Given the description of an element on the screen output the (x, y) to click on. 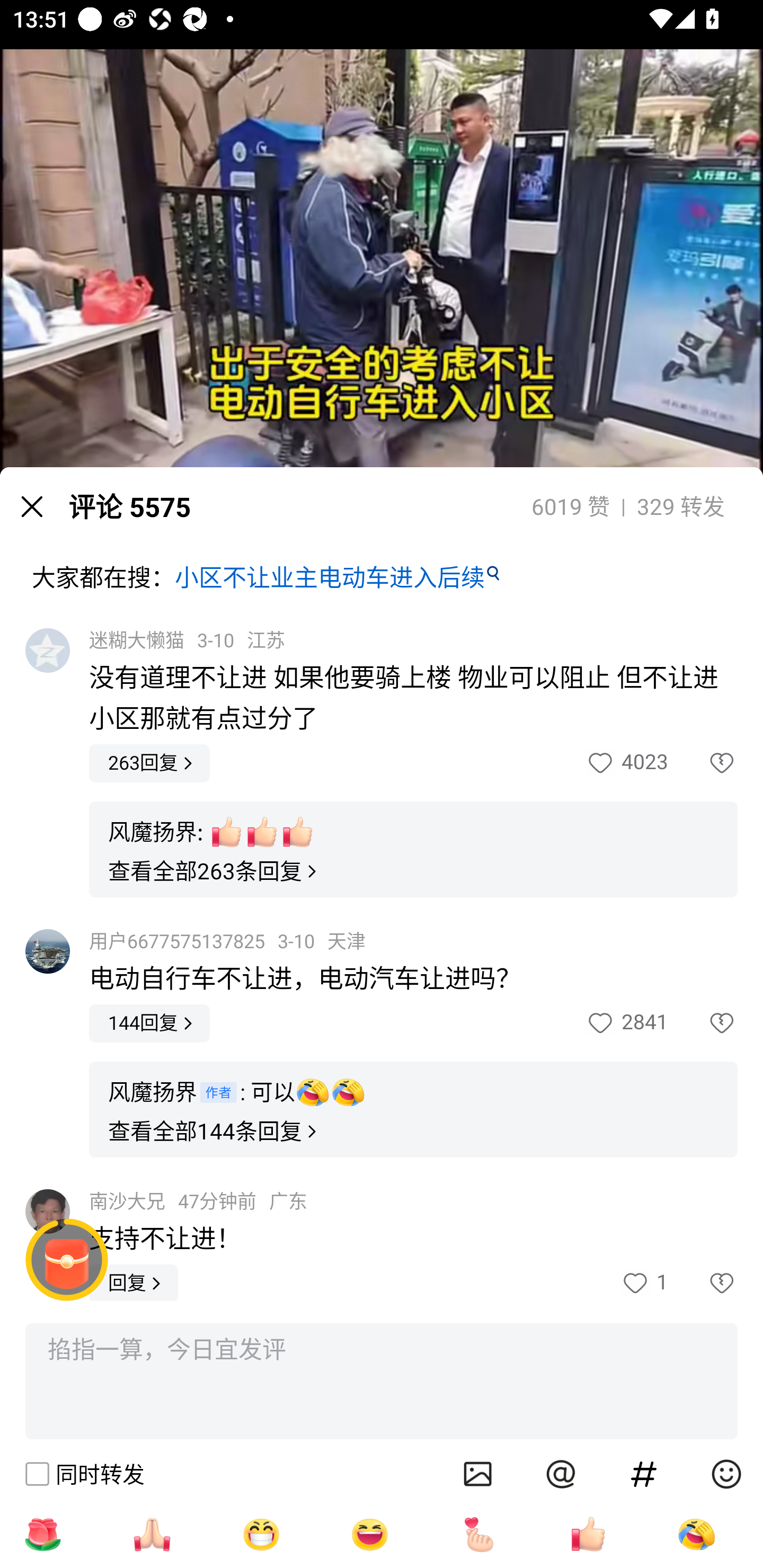
 掐指一算，今日宜发评 (381, 1381)
同时转发 (83, 1473)
相册 (478, 1473)
at (560, 1473)
话题 (643, 1473)
表情 (726, 1473)
[玫瑰] (42, 1534)
[祈祷] (152, 1534)
[呲牙] (261, 1534)
[大笑] (369, 1534)
[比心] (478, 1534)
[赞] (588, 1534)
[捂脸] (696, 1534)
